Given the description of an element on the screen output the (x, y) to click on. 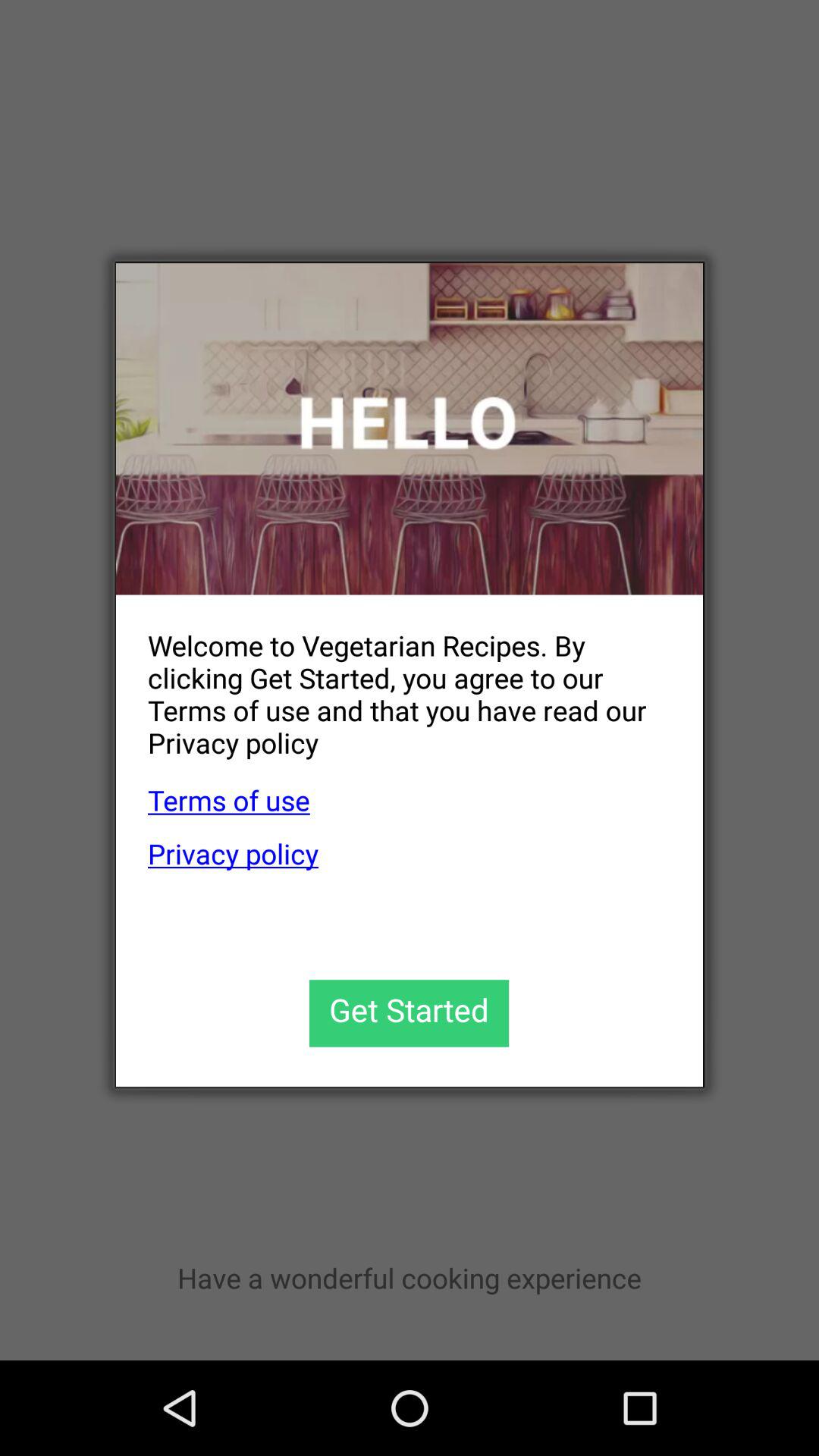
swipe until the welcome to vegetarian (393, 681)
